Given the description of an element on the screen output the (x, y) to click on. 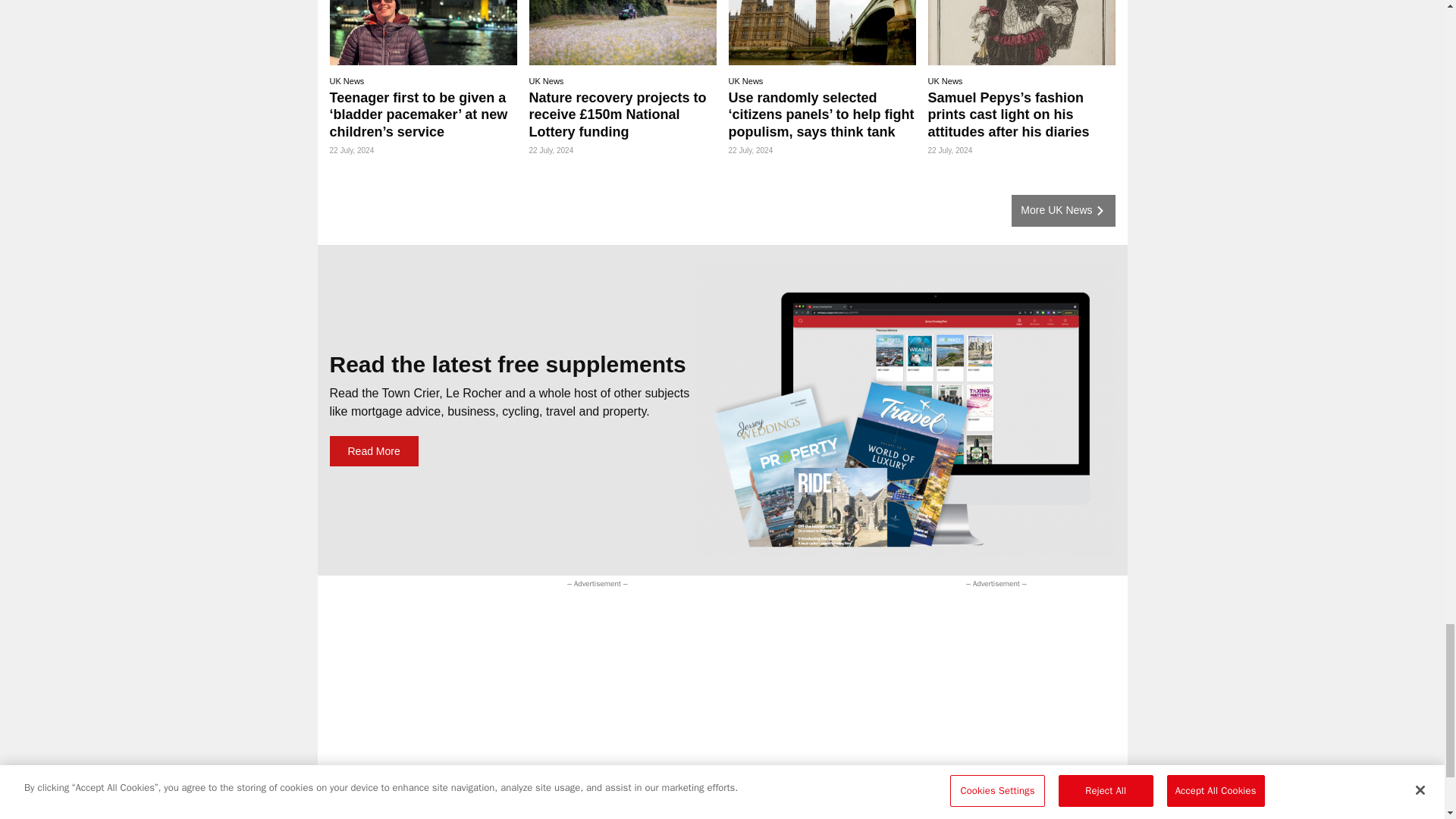
3rd party ad content (978, 686)
3rd party ad content (610, 625)
